Given the description of an element on the screen output the (x, y) to click on. 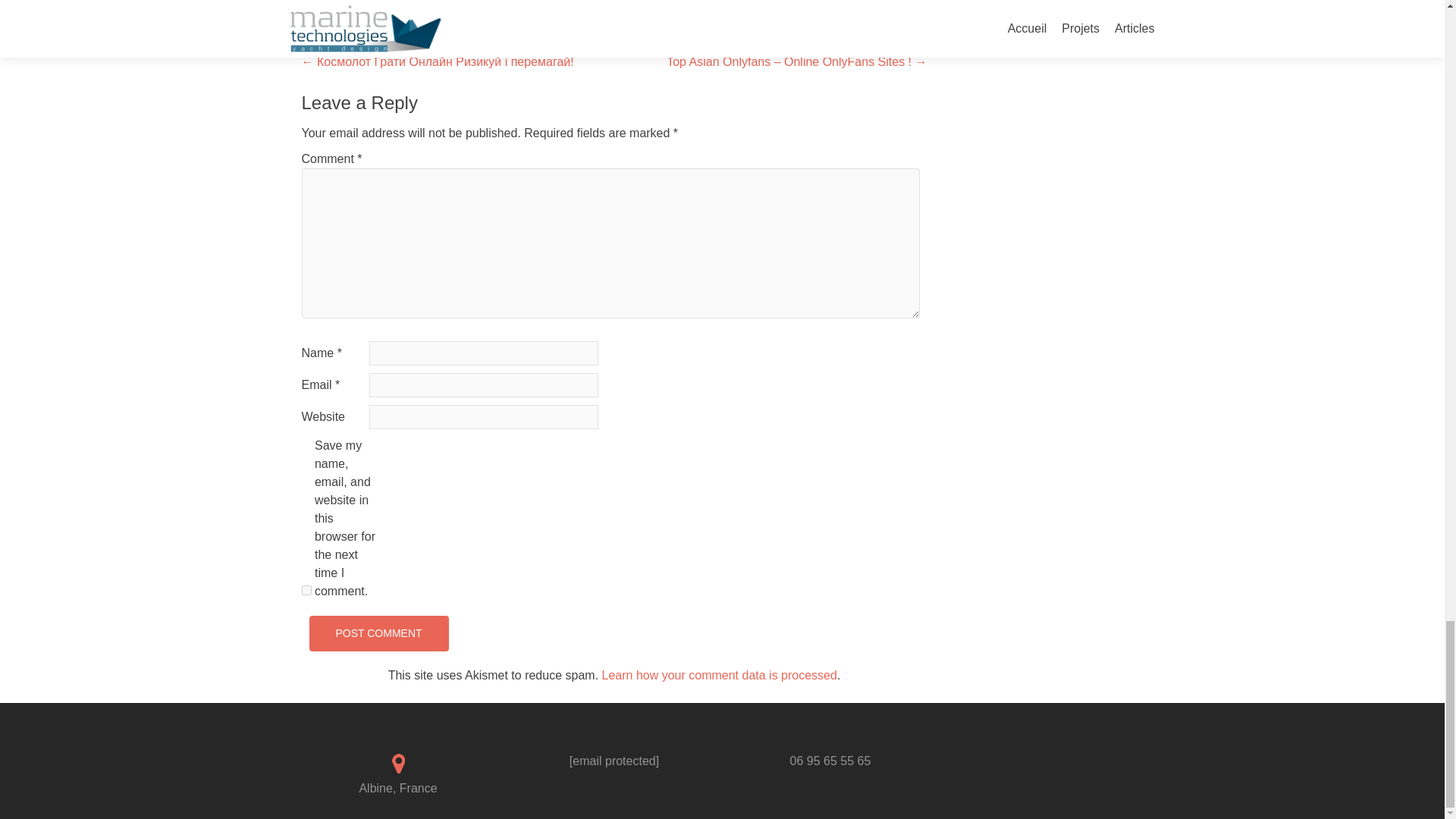
Learn how your comment data is processed (719, 675)
yes (306, 590)
Post Comment (378, 633)
blog (446, 2)
Post Comment (378, 633)
permalink (569, 2)
06 95 65 55 65 (830, 760)
